Given the description of an element on the screen output the (x, y) to click on. 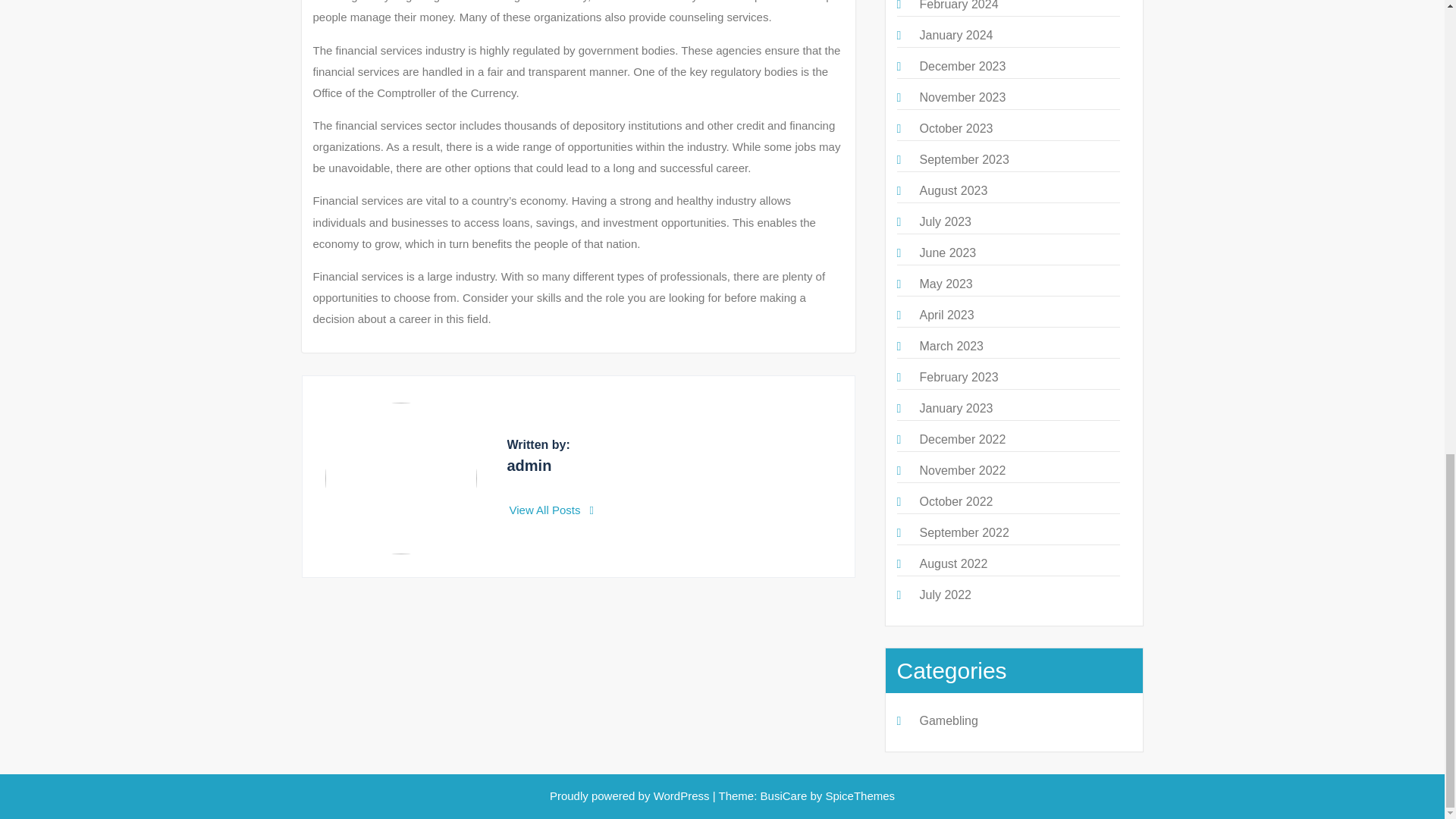
December 2023 (962, 65)
October 2022 (955, 501)
View All Posts (551, 509)
January 2024 (955, 34)
December 2022 (962, 439)
June 2023 (946, 252)
January 2023 (955, 408)
April 2023 (946, 314)
September 2022 (963, 532)
November 2023 (962, 97)
